Given the description of an element on the screen output the (x, y) to click on. 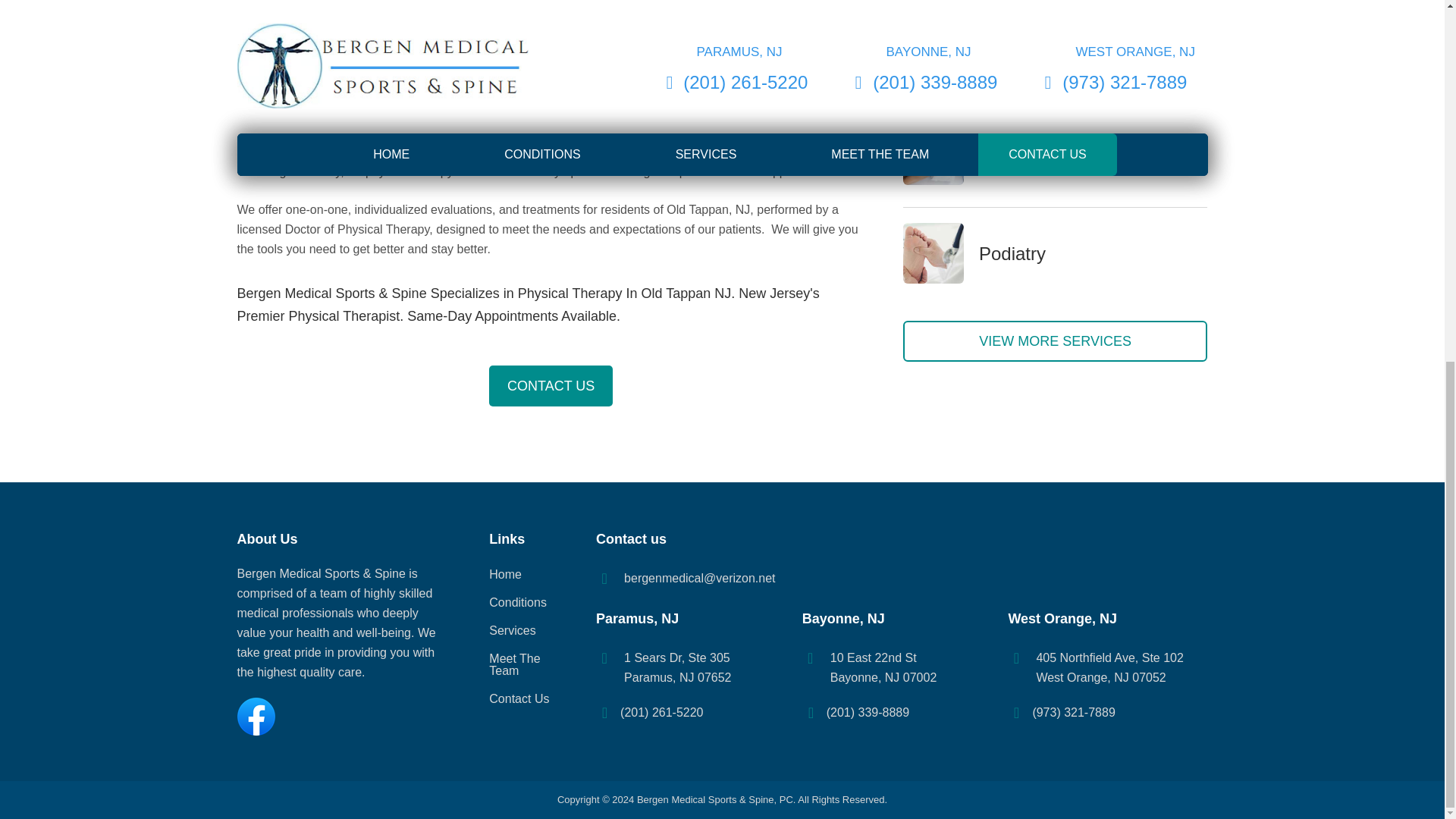
CONTACT US (550, 385)
